Given the description of an element on the screen output the (x, y) to click on. 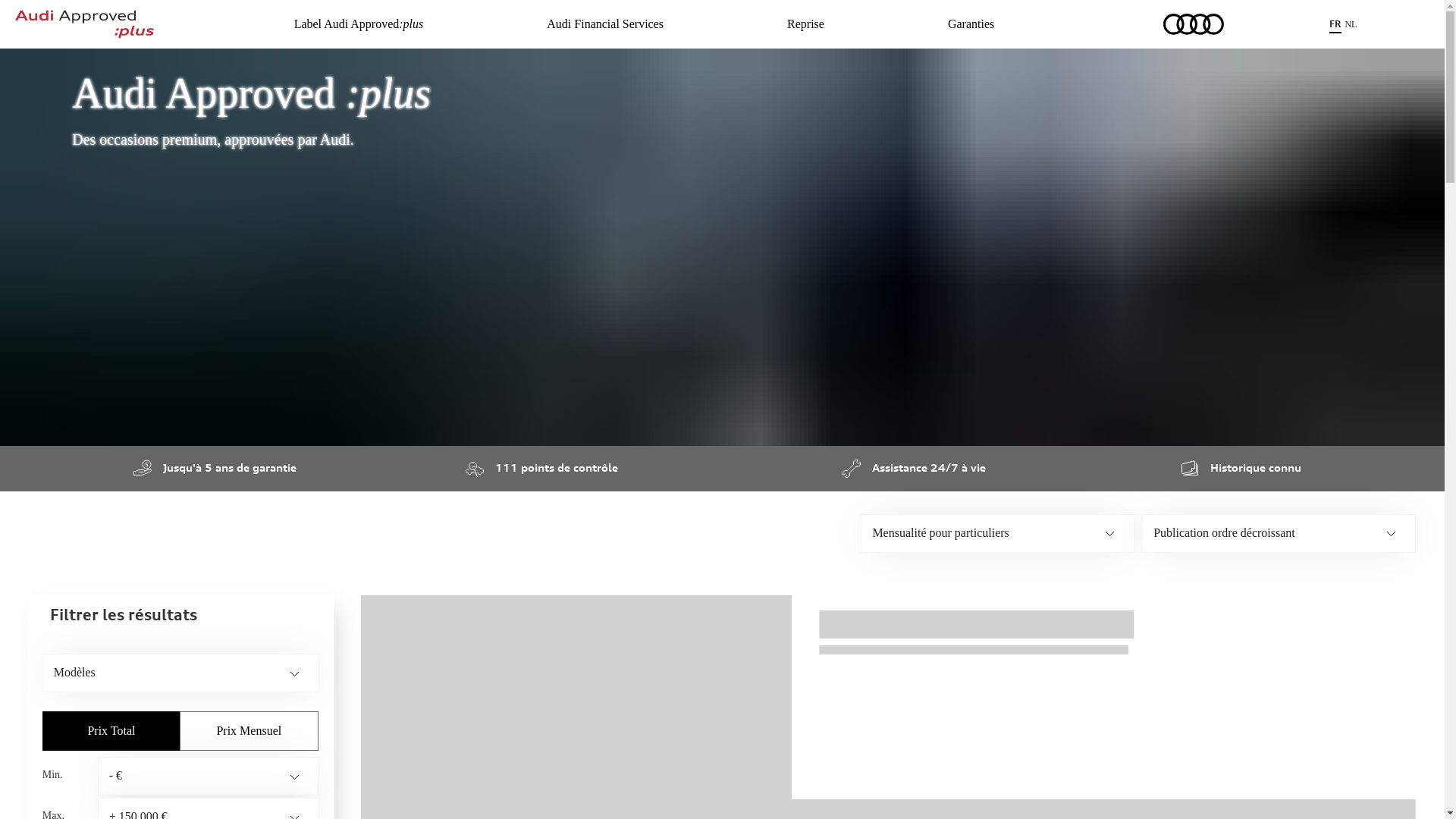
Prix Total Element type: text (111, 730)
Reprise Element type: text (805, 24)
Garanties Element type: text (970, 24)
FR Element type: text (1336, 23)
FR Element type: text (1334, 23)
Audi Financial Services Element type: text (604, 24)
Prix Mensuel Element type: text (248, 730)
NL Element type: text (1351, 23)
NL Element type: text (1350, 24)
Label Audi Approved
:plus Element type: text (358, 24)
